Given the description of an element on the screen output the (x, y) to click on. 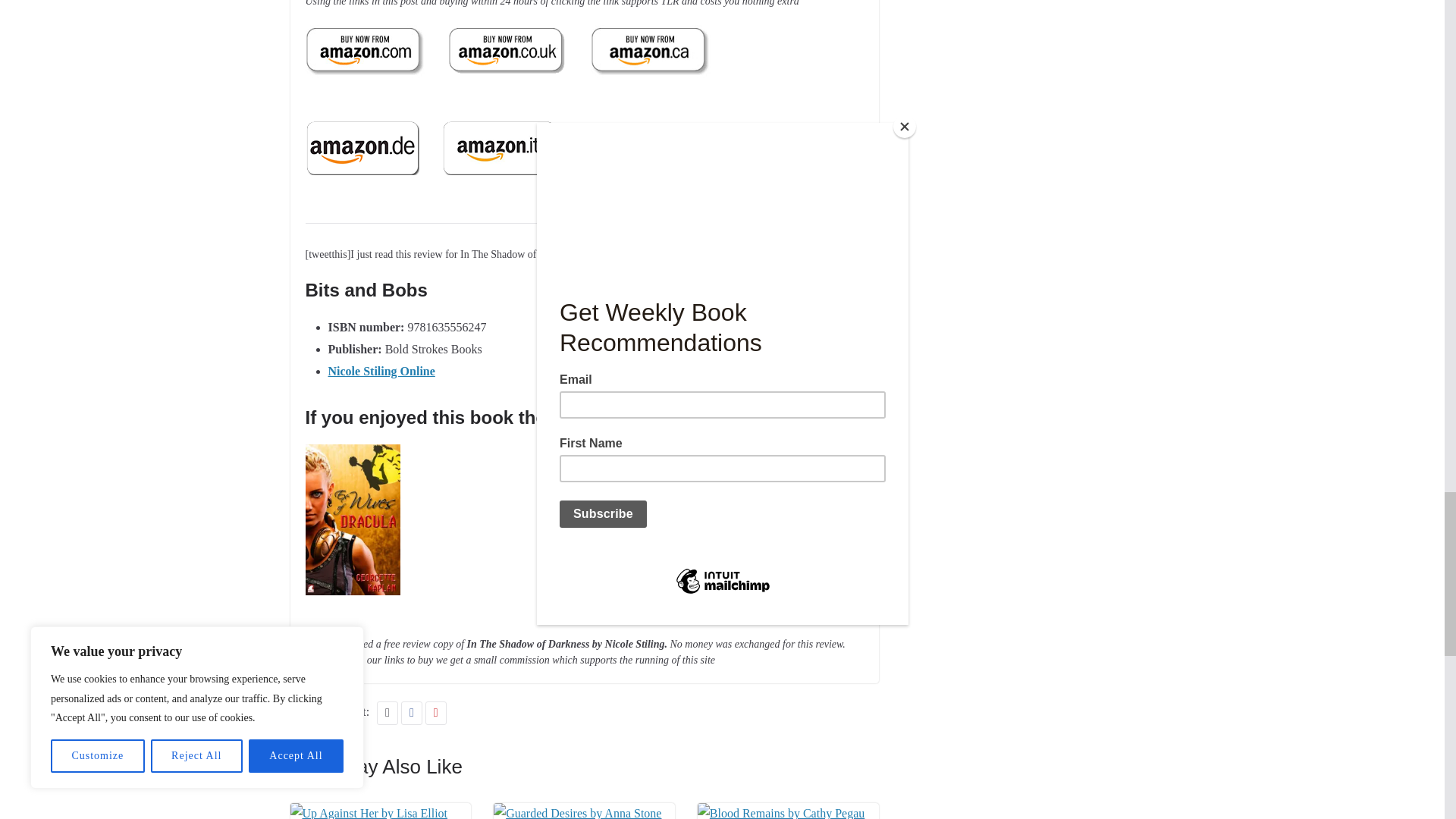
Guarded Desires by Anna Stone: Book Review (584, 812)
Up Against Her by Lisa Elliot: Book Review (379, 812)
Blood Remains by Cathy Pegau: Book Review (788, 812)
